Given the description of an element on the screen output the (x, y) to click on. 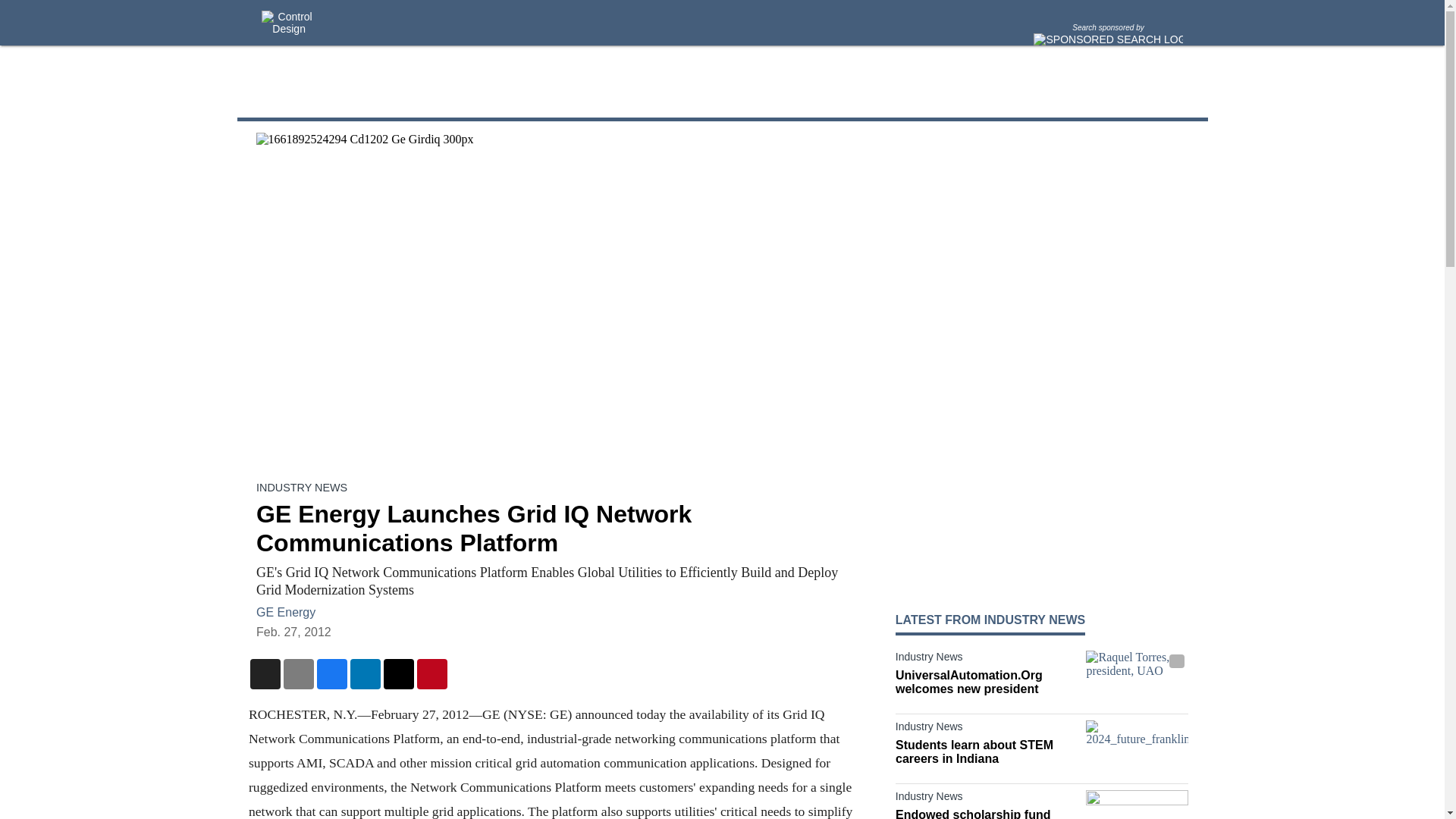
Raquel Torres, president, UAO (1137, 678)
UniversalAutomation.Org welcomes new president (986, 682)
GE Energy (285, 611)
Industry News (986, 659)
Industry News (986, 799)
Students learn about STEM careers in Indiana (986, 751)
INDUSTRY NEWS (301, 487)
Industry News (986, 729)
